Given the description of an element on the screen output the (x, y) to click on. 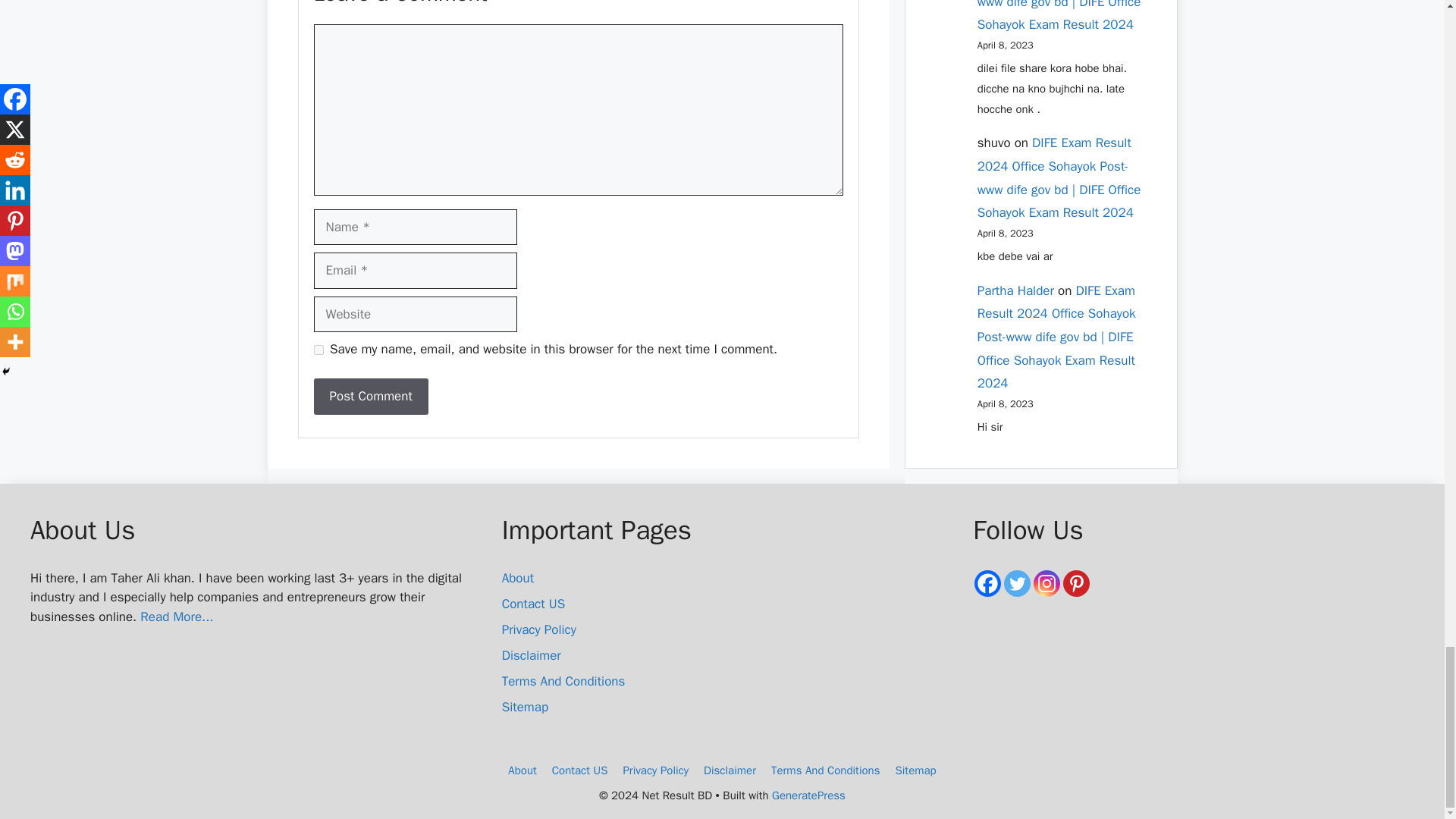
Post Comment (371, 396)
yes (318, 349)
